Given the description of an element on the screen output the (x, y) to click on. 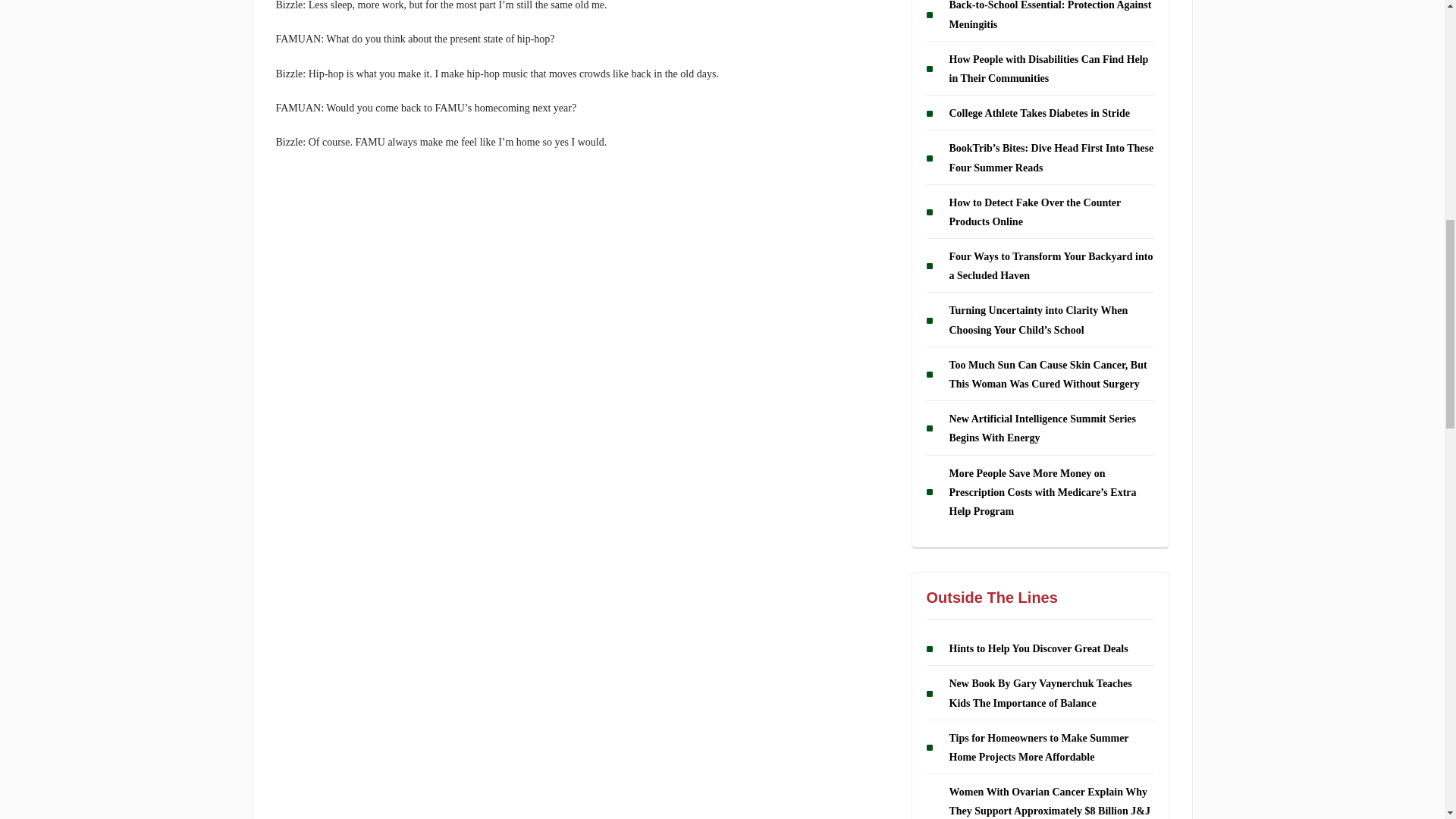
College Athlete Takes Diabetes in Stride (1039, 112)
Four Ways to Transform Your Backyard into a Secluded Haven (1051, 265)
Back-to-School Essential: Protection Against Meningitis (1050, 15)
How to Detect Fake Over the Counter Products Online (1035, 212)
Back-to-School Essential: Protection Against Meningitis (1050, 15)
Four Ways to Transform Your Backyard into a Secluded Haven (1051, 265)
College Athlete Takes Diabetes in Stride (1039, 112)
How to Detect Fake Over the Counter Products Online (1035, 212)
